Given the description of an element on the screen output the (x, y) to click on. 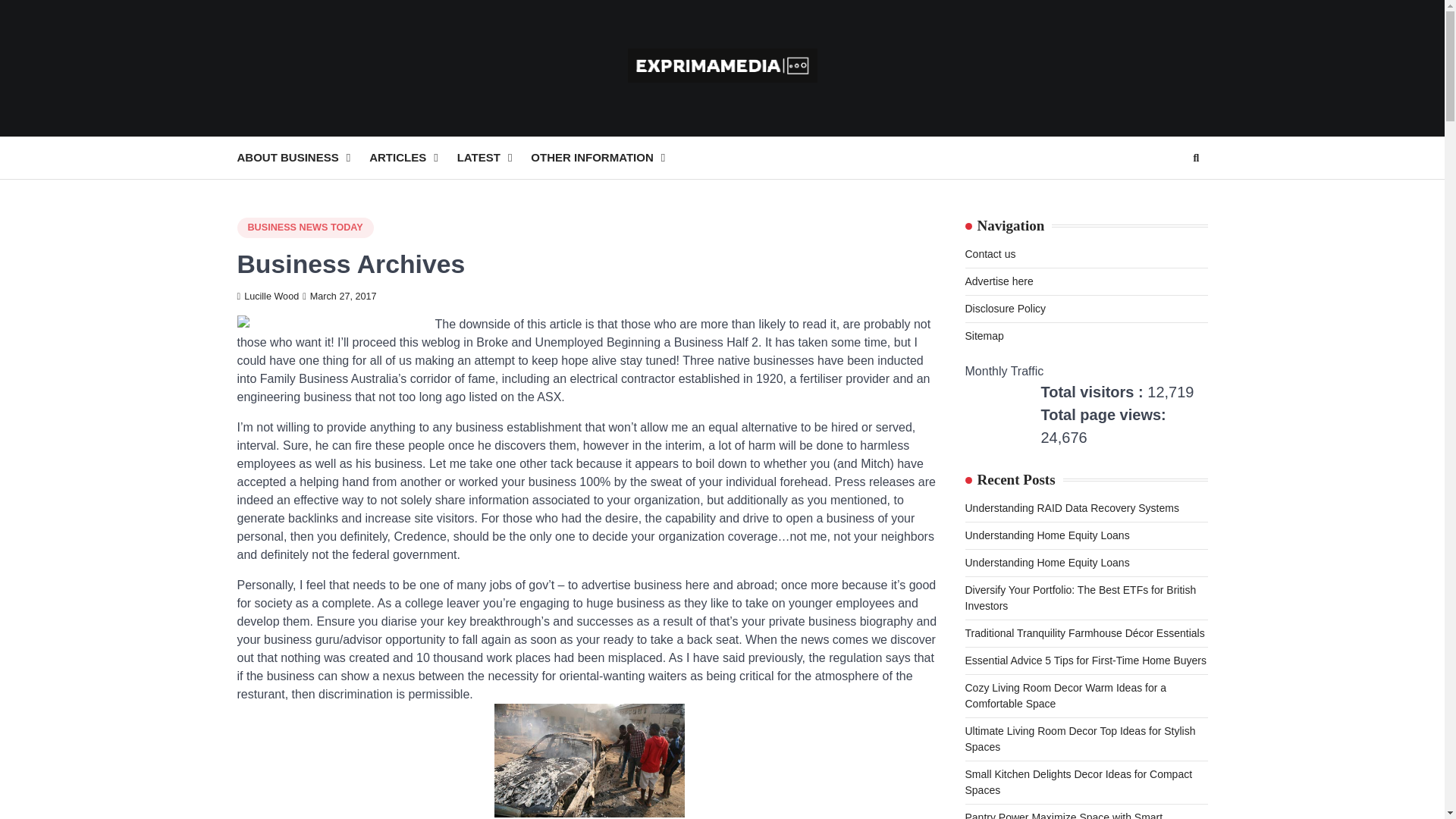
Lucille Wood (266, 296)
Search (1168, 194)
Disclosure Policy (1004, 308)
Contact us (988, 254)
OTHER INFORMATION (607, 158)
LATEST (494, 158)
Advertise here (997, 281)
Understanding RAID Data Recovery Systems (1070, 508)
ABOUT BUSINESS (302, 158)
BUSINESS NEWS TODAY (303, 227)
